Given the description of an element on the screen output the (x, y) to click on. 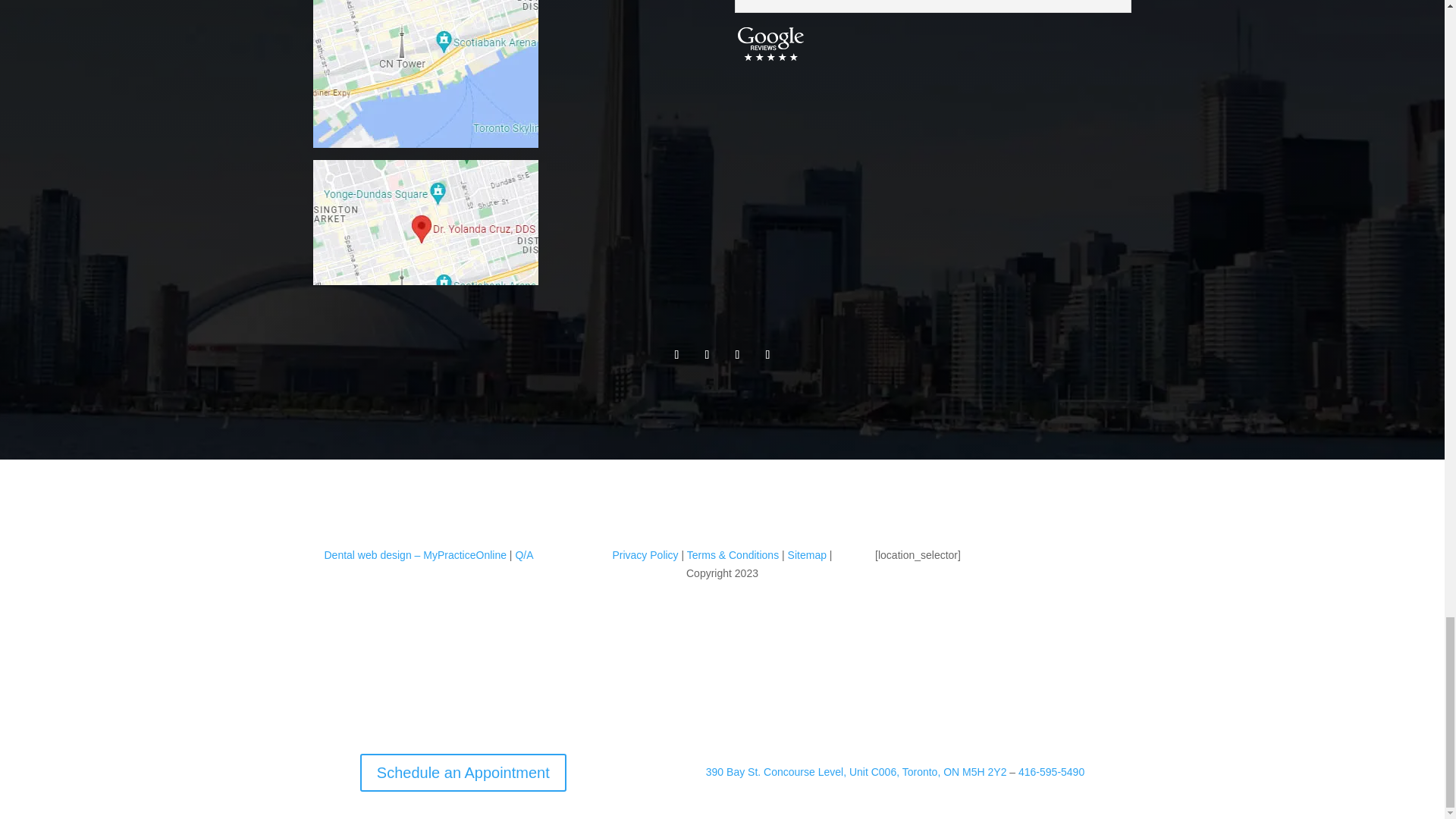
Follow on Instagram (706, 354)
Follow on Facebook (675, 354)
Follow on TikTok (737, 354)
Follow on RSS (766, 354)
downtown toronto dental office (425, 74)
